Given the description of an element on the screen output the (x, y) to click on. 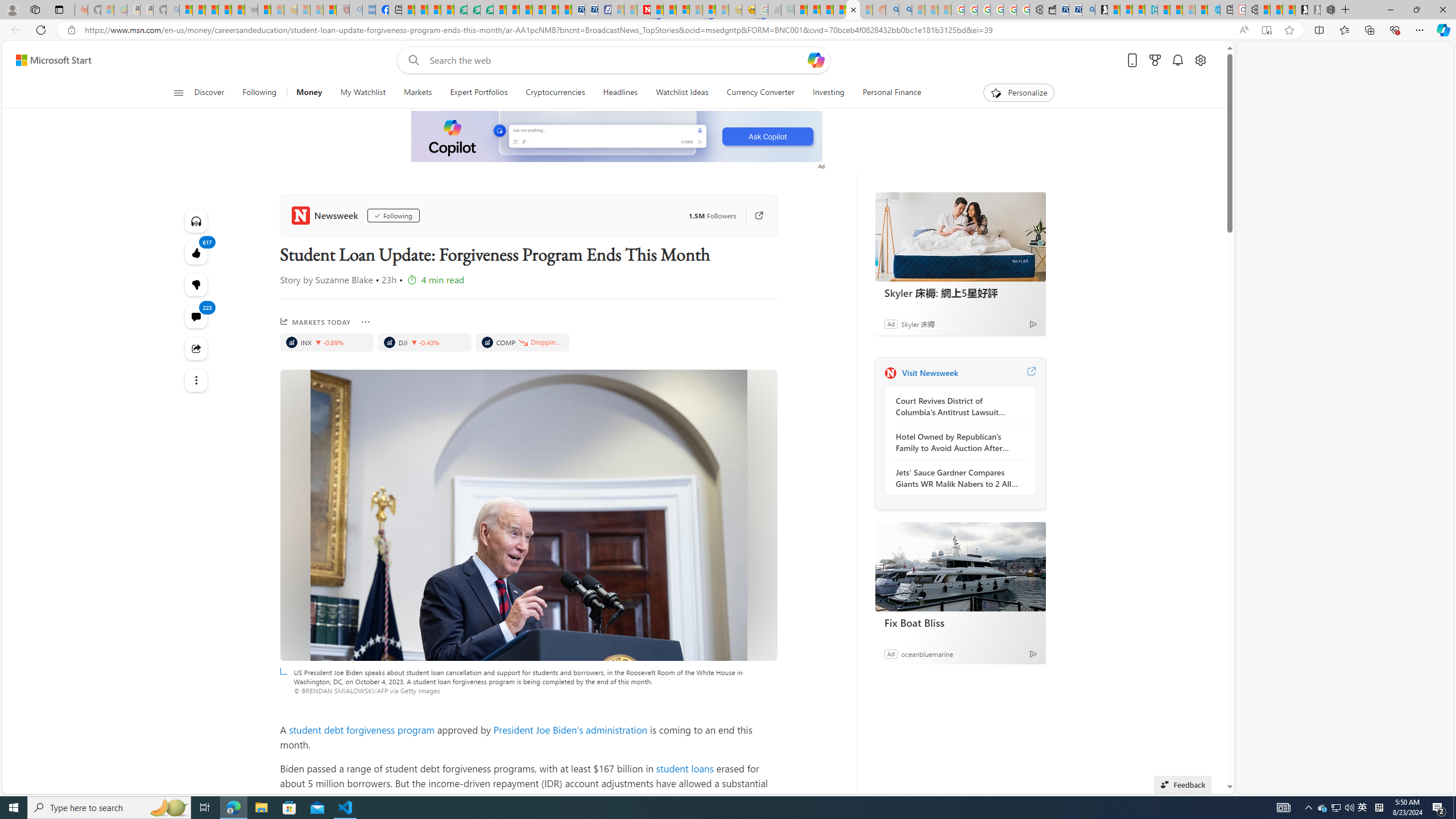
Personal Finance (891, 92)
Enter Immersive Reader (F9) (1266, 29)
Robert H. Shmerling, MD - Harvard Health - Sleeping (342, 9)
Open navigation menu (177, 92)
DJI, DOW. Price is 40,712.78. Decreased by -0.43% (424, 342)
